Given the description of an element on the screen output the (x, y) to click on. 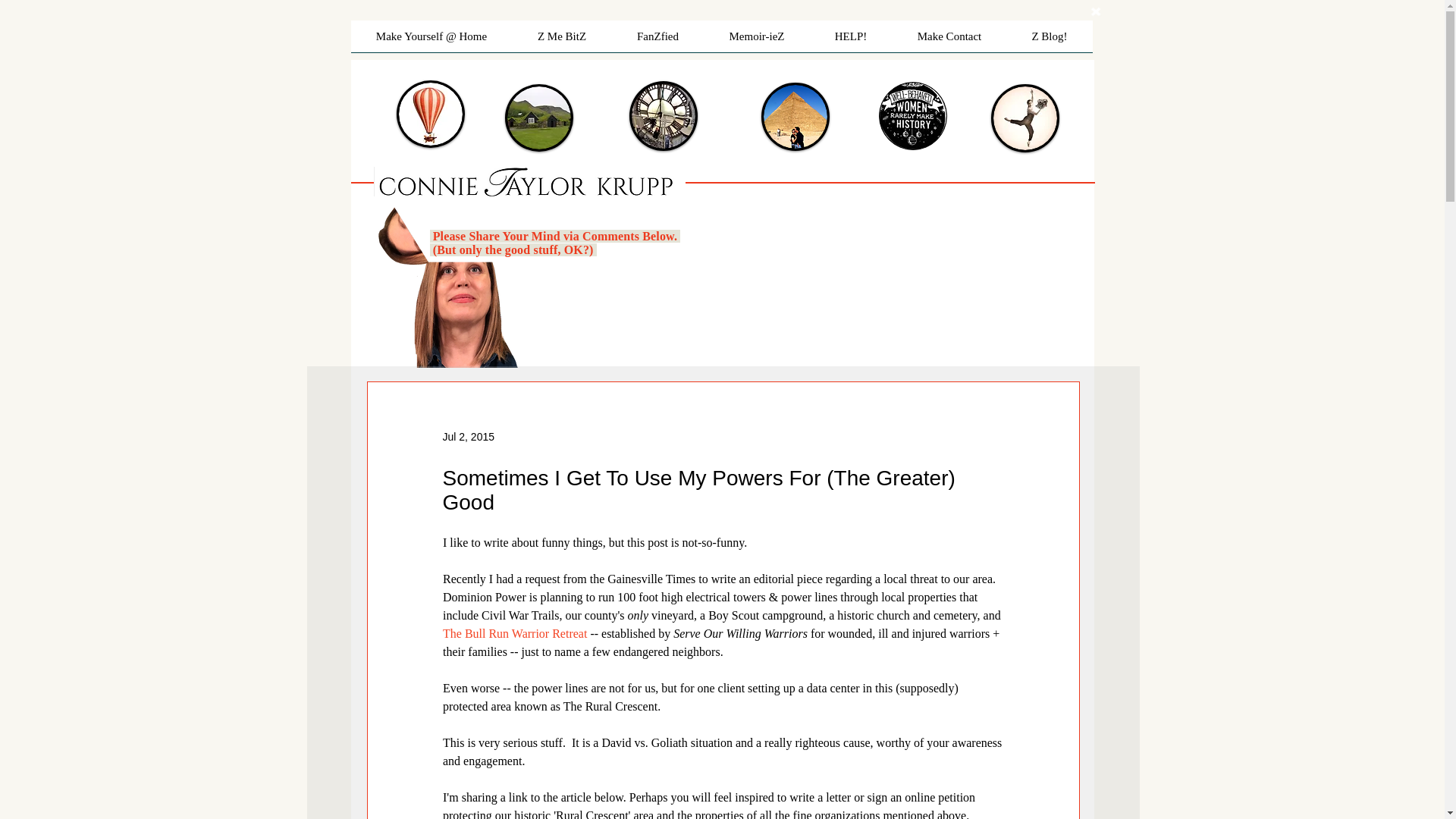
Make Contact (948, 41)
Z Me BitZ (561, 41)
Jul 2, 2015 (468, 436)
A Wee Bit About Me (662, 115)
HELP! (850, 41)
FanZfied (657, 41)
The Bull Run Warrior Retreat (514, 633)
Z Blog! (1050, 41)
Some Girlz Gallery (795, 116)
Make Contact (539, 117)
Memoir-ieZ (756, 41)
